Given the description of an element on the screen output the (x, y) to click on. 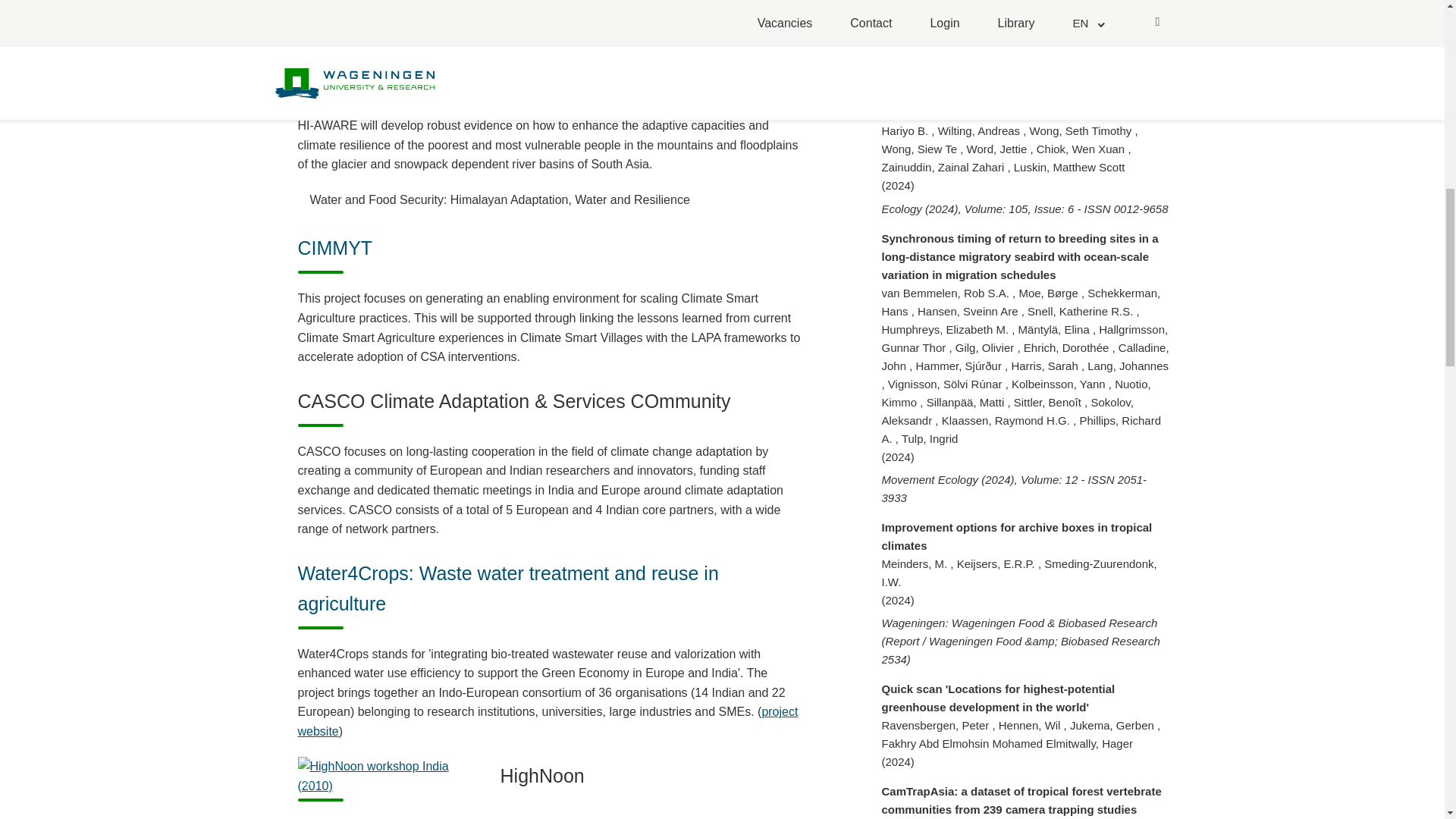
Water4Crops: Waste water treatment and reuse in agriculture (507, 588)
CIMMYT (334, 247)
project website (547, 721)
